Given the description of an element on the screen output the (x, y) to click on. 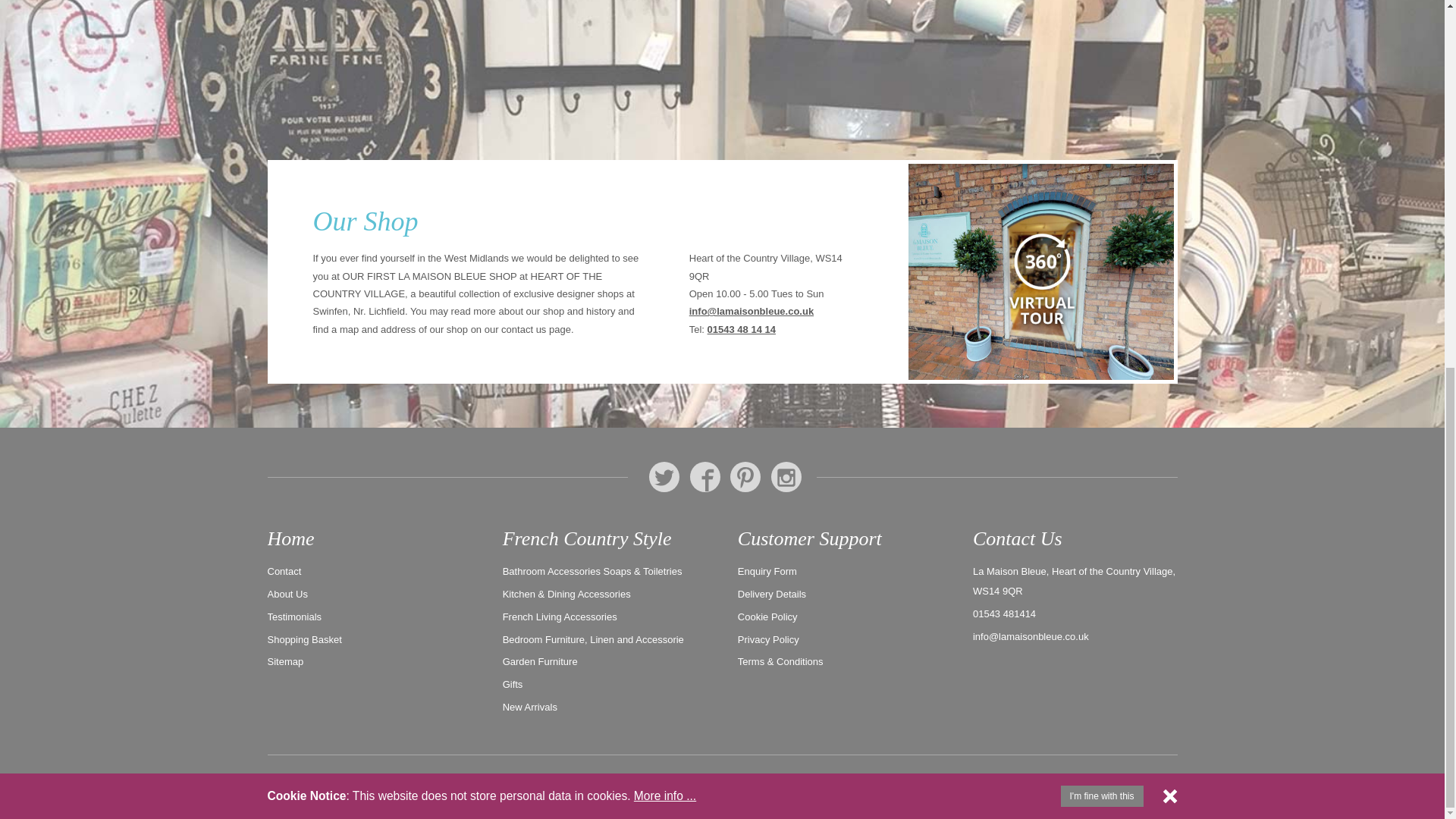
Dismiss - I'm fine with this (1169, 132)
